Given the description of an element on the screen output the (x, y) to click on. 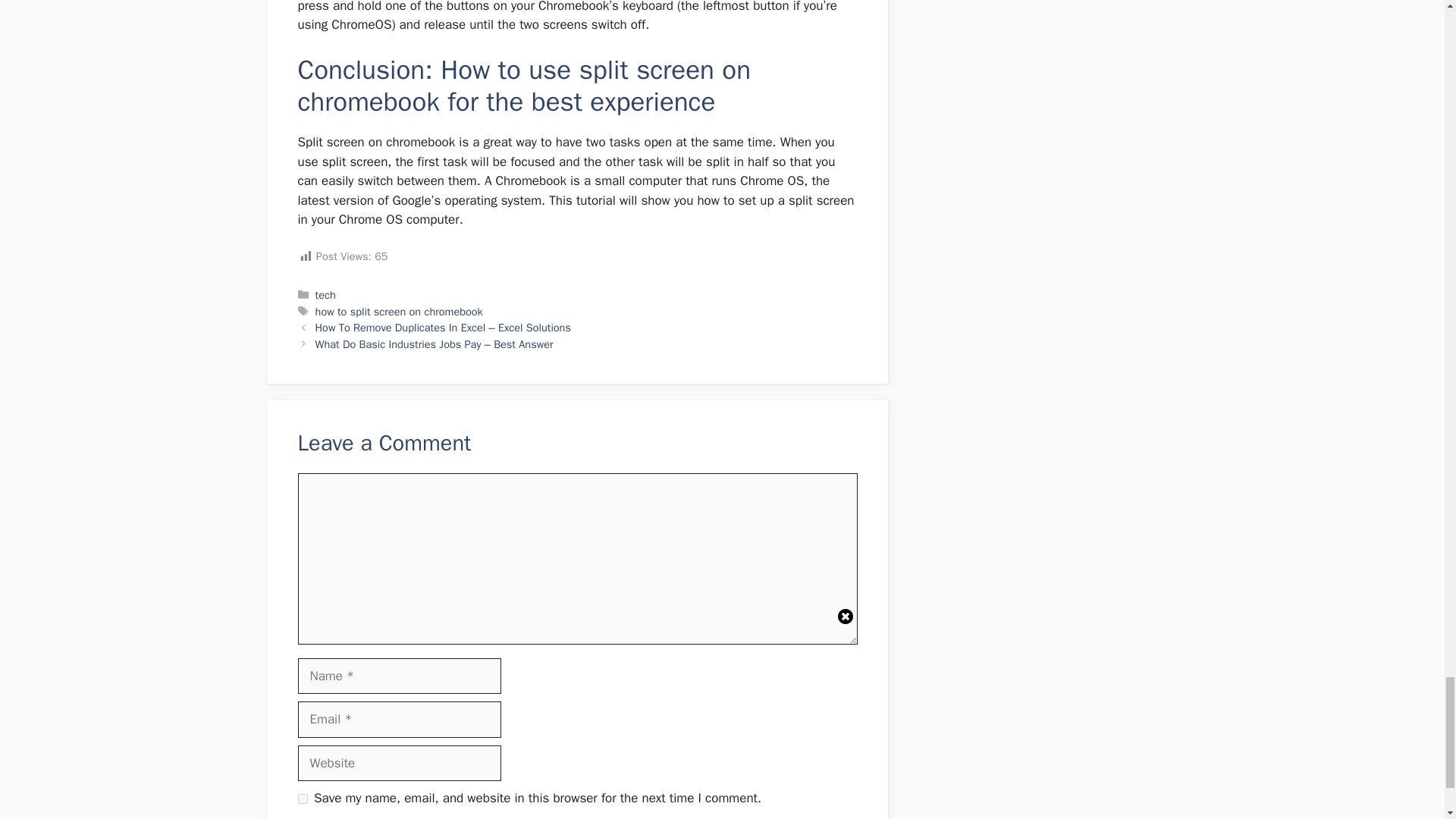
tech (325, 295)
how to split screen on chromebook (399, 311)
yes (302, 798)
